Given the description of an element on the screen output the (x, y) to click on. 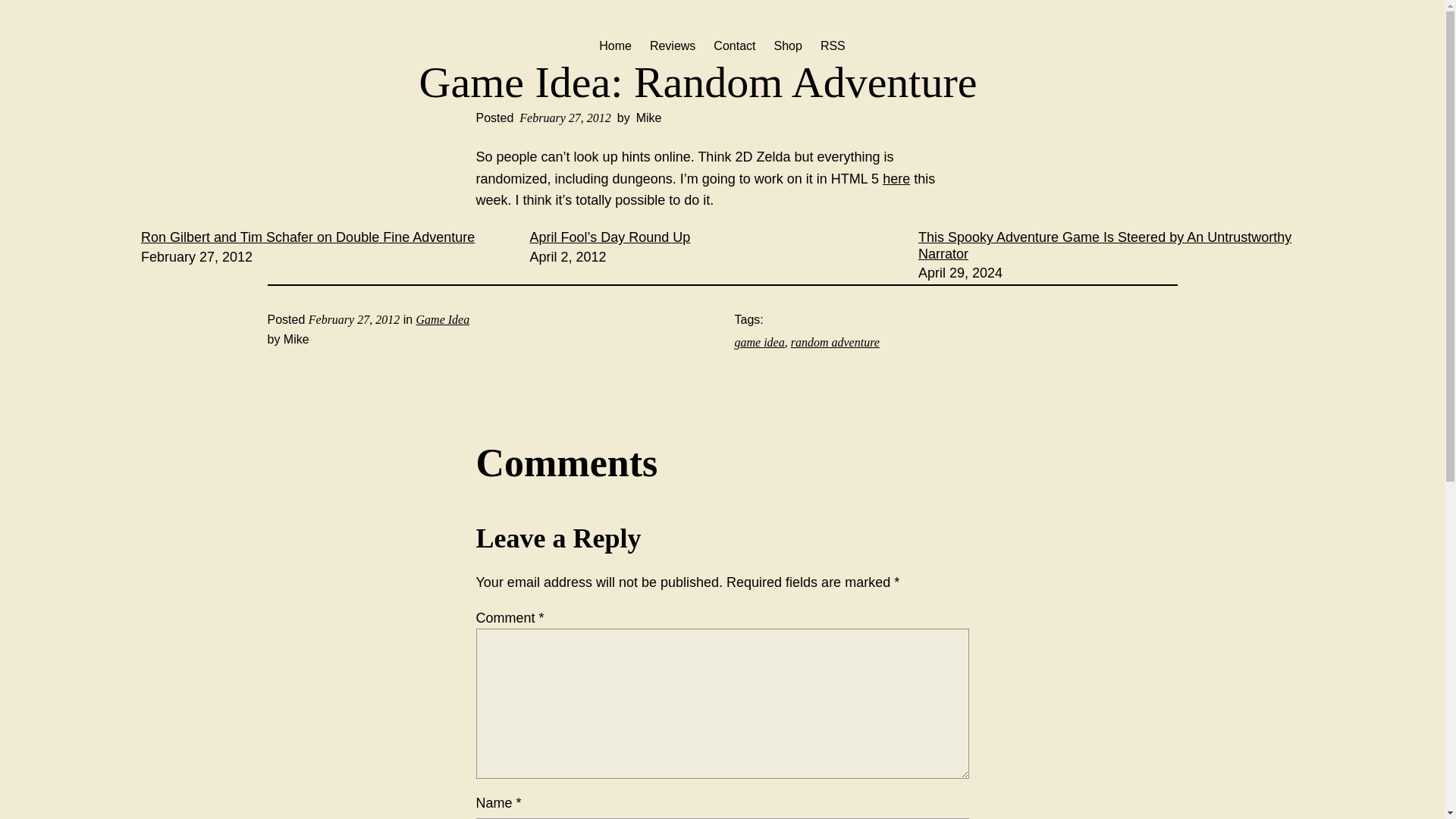
game idea (758, 341)
Reviews (672, 46)
here (896, 178)
Contact (734, 46)
RSS (833, 46)
Game Idea (443, 318)
Ron Gilbert and Tim Schafer on Double Fine Adventure (307, 237)
random adventure (834, 341)
Home (614, 46)
Shop (787, 46)
